Given the description of an element on the screen output the (x, y) to click on. 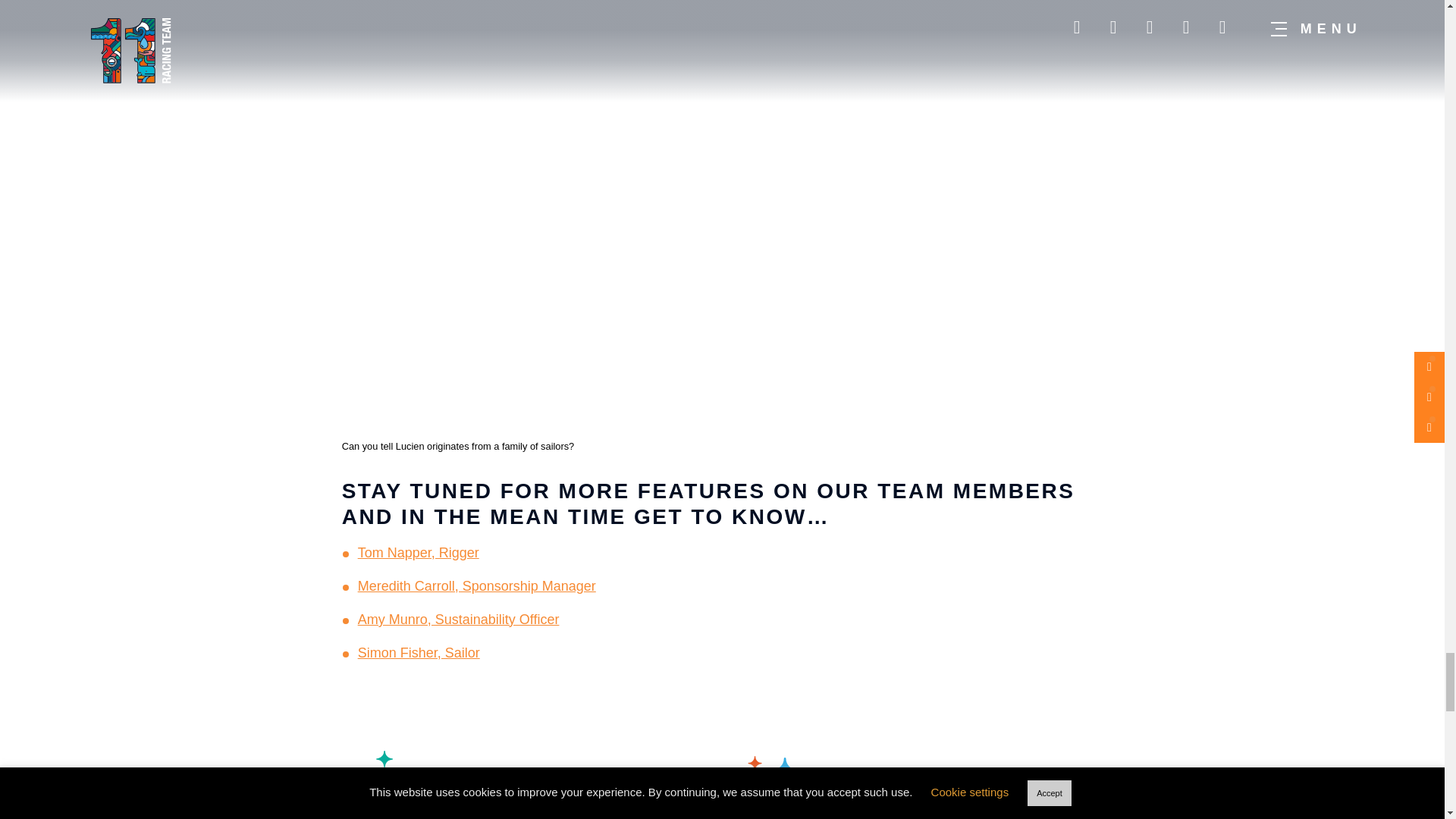
Amy Munro, Sustainability Officer (458, 619)
Simon Fisher, Sailor (419, 652)
Meredith Carroll, Sponsorship Manager (476, 585)
Tom Napper, Rigger (418, 552)
